Given the description of an element on the screen output the (x, y) to click on. 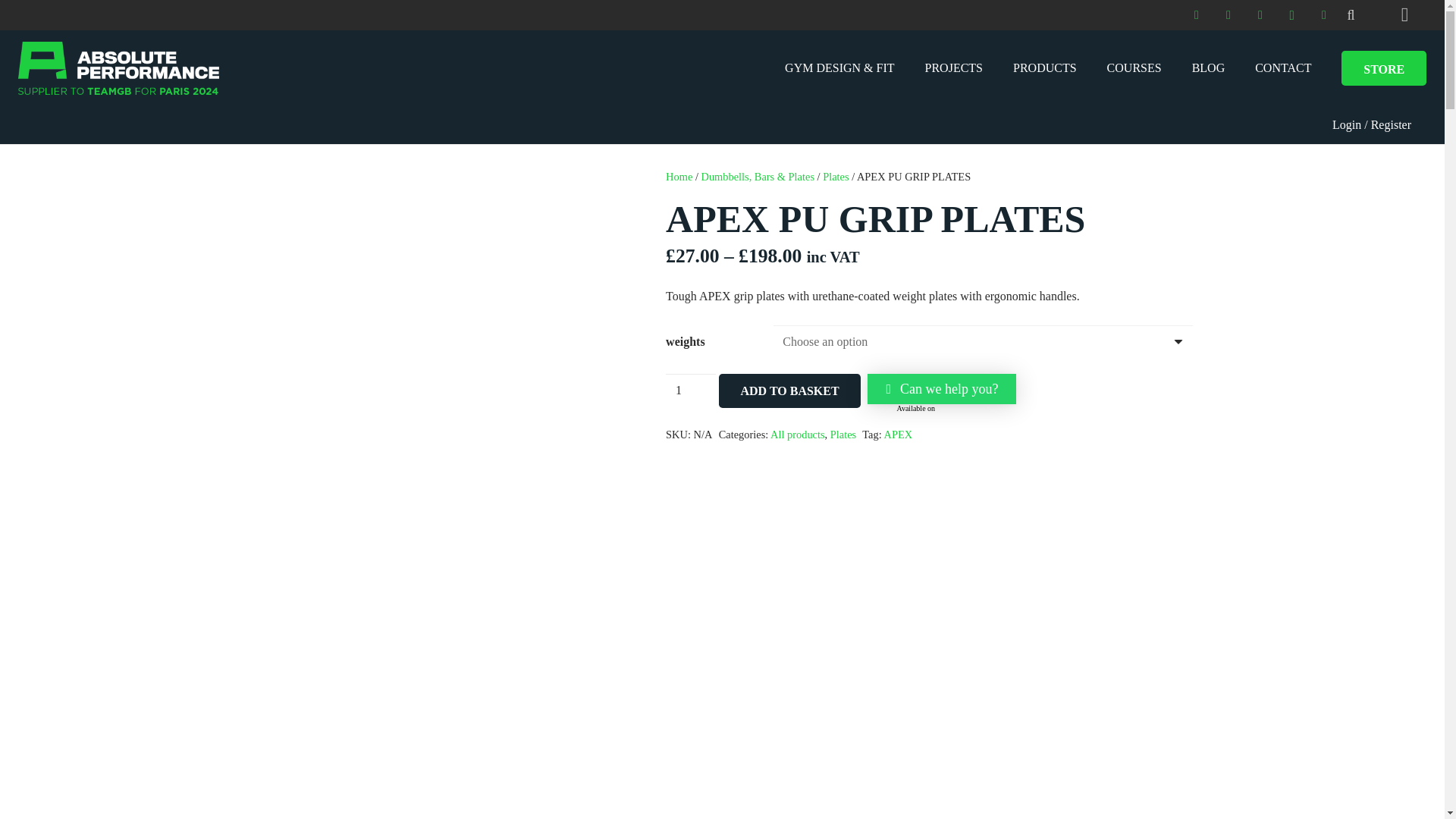
PROJECTS (953, 68)
PRODUCTS (1044, 68)
Instagram (1291, 15)
Twitter (1227, 15)
COURSES (1134, 68)
YouTube (1323, 15)
Facebook (1196, 15)
STORE (1383, 68)
1 (690, 390)
LinkedIn (1259, 15)
